Given the description of an element on the screen output the (x, y) to click on. 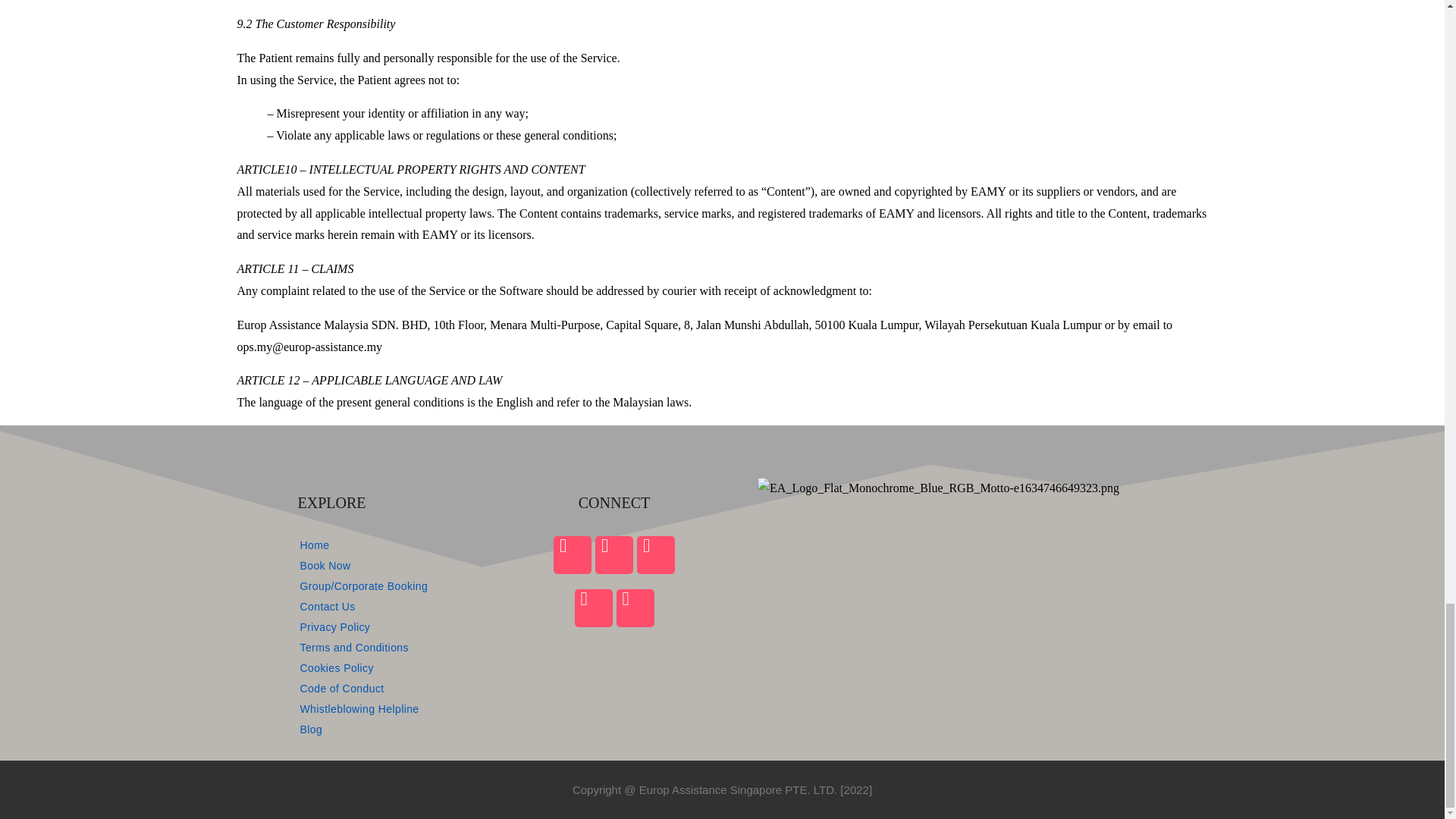
Home (397, 545)
Book Now (397, 565)
Privacy Policy (397, 627)
Code of Conduct (397, 688)
Cookies Policy (397, 668)
Whistleblowing Helpline (397, 709)
Terms and Conditions (397, 647)
Blog (397, 729)
Contact Us (397, 606)
